Given the description of an element on the screen output the (x, y) to click on. 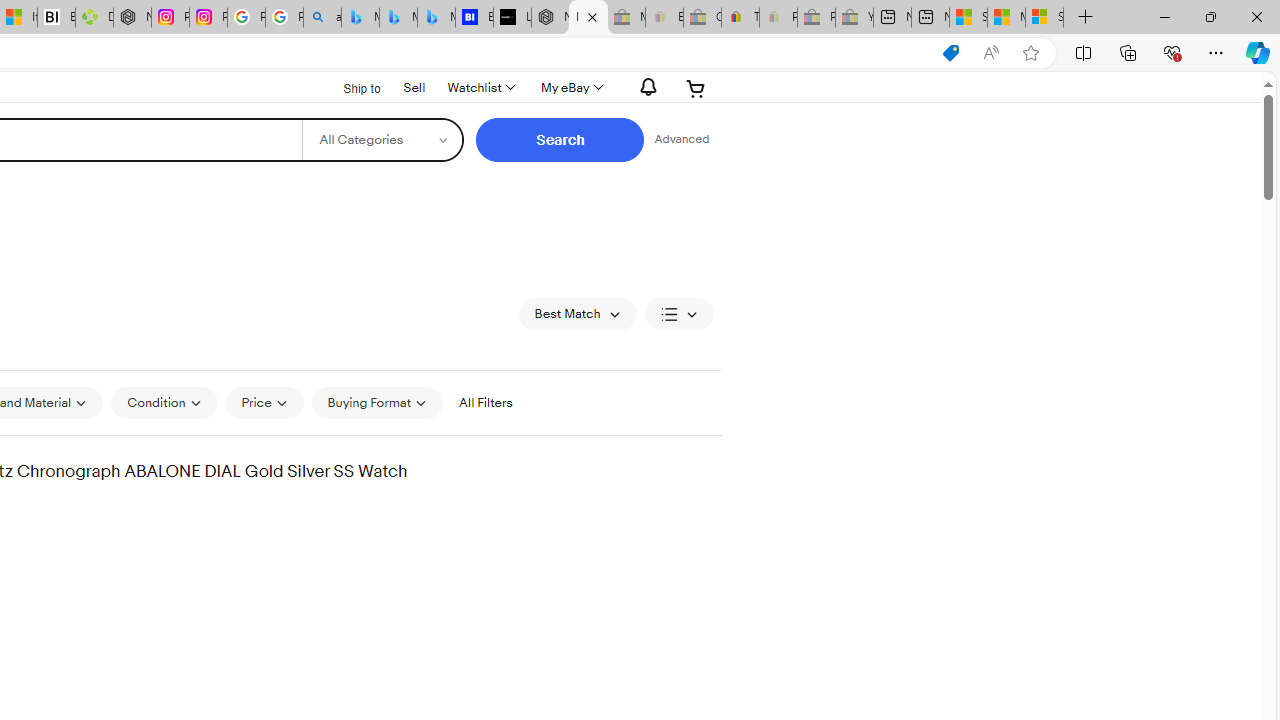
Condition (164, 403)
Descarga Driver Updater (93, 17)
Expand Cart (696, 88)
Threats and offensive language policy | eBay (740, 17)
This site has coupons! Shopping in Microsoft Edge (950, 53)
Sign in to your Microsoft account (1044, 17)
Condition (164, 402)
Your shopping cart (696, 88)
Watchlist (479, 88)
